Given the description of an element on the screen output the (x, y) to click on. 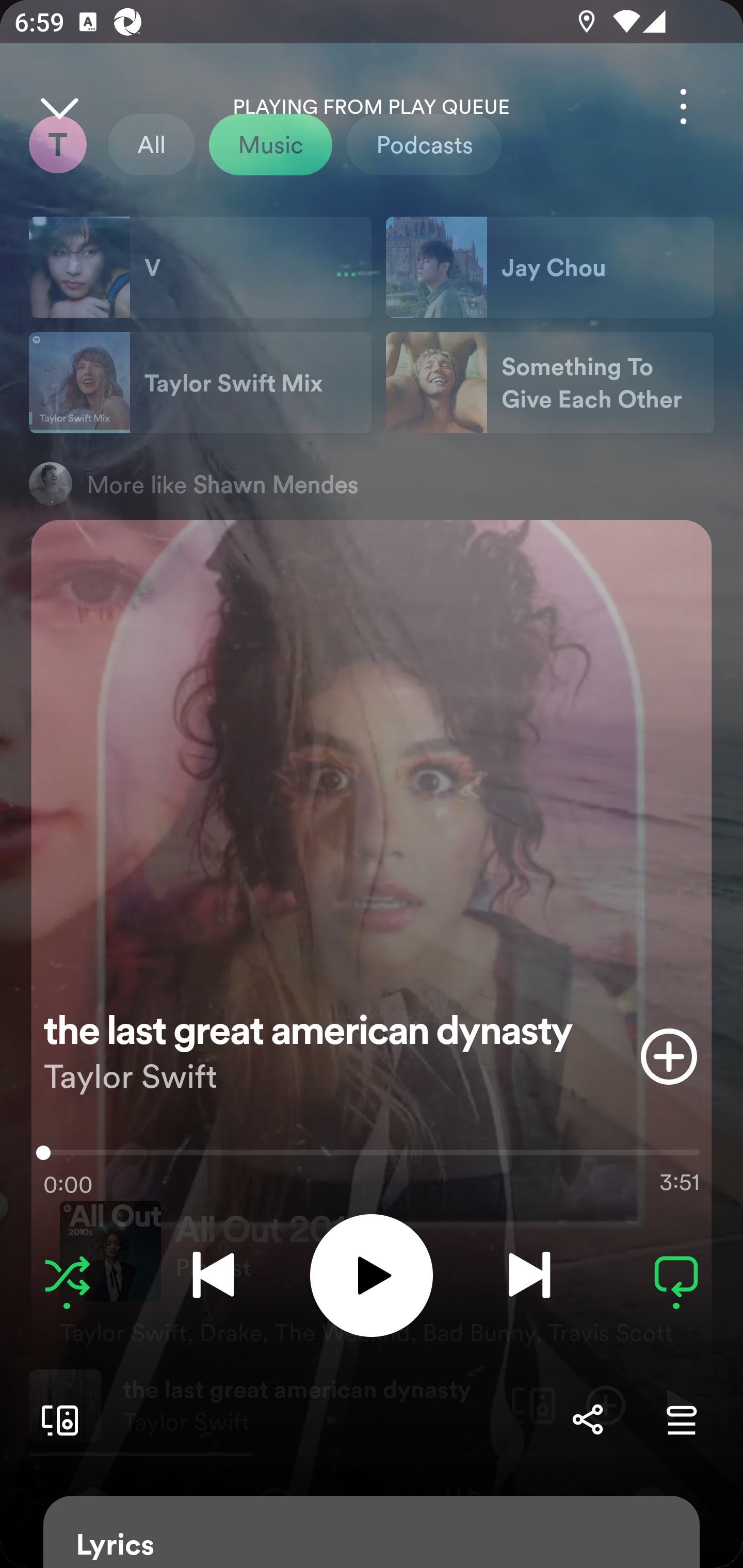
Close (59, 106)
PLAYING FROM PLAY QUEUE (371, 107)
Add item (669, 1056)
0:00 3:51 0.0 Use volume keys to adjust (371, 1157)
Play (371, 1275)
Previous (212, 1275)
Next (529, 1275)
Stop shuffling tracks (66, 1275)
Repeat (676, 1275)
Share (587, 1419)
Go to Queue (681, 1419)
Connect to a device. Opens the devices menu (55, 1419)
Lyrics (371, 1531)
